Given the description of an element on the screen output the (x, y) to click on. 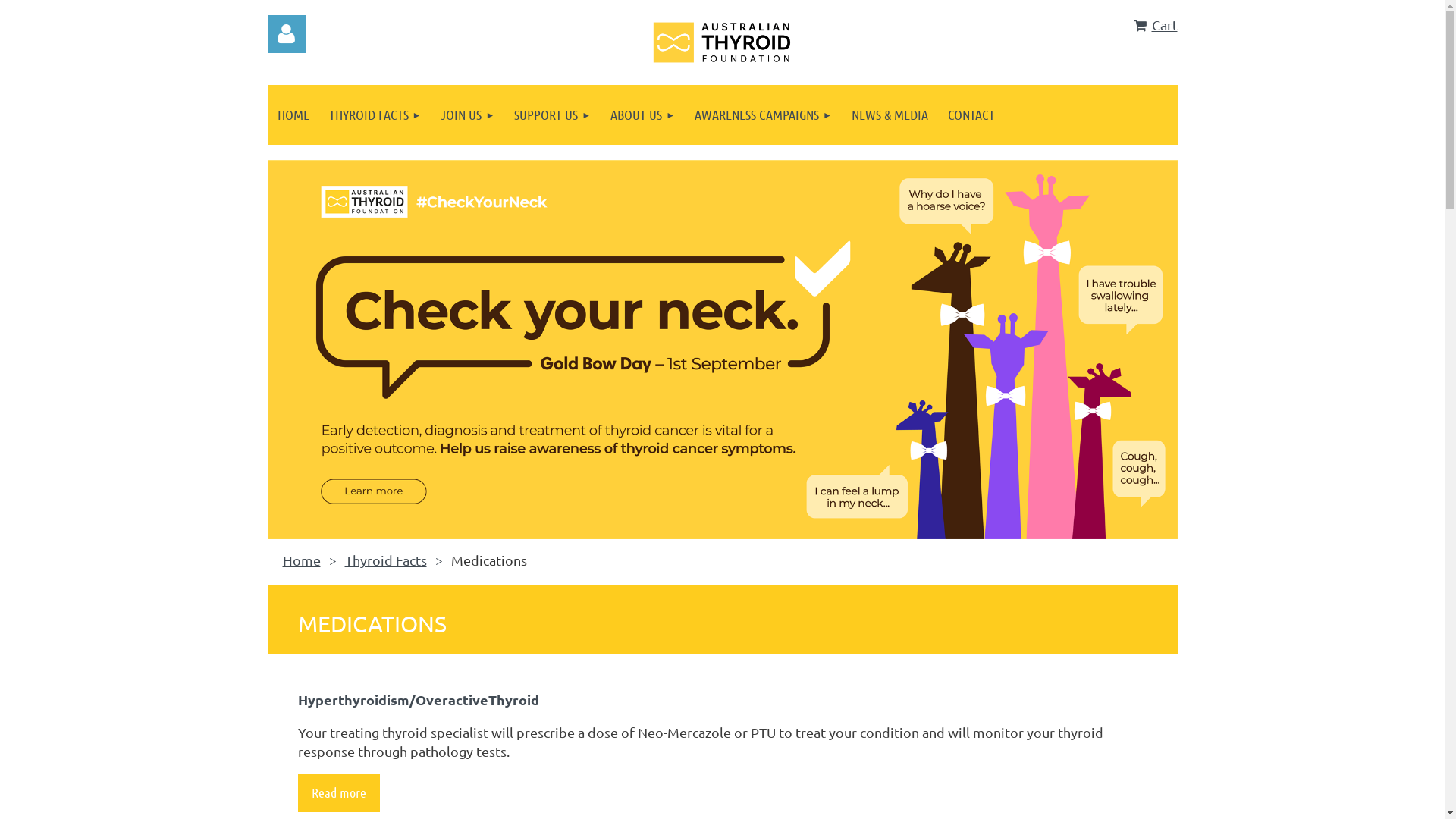
Thyroid Facts Element type: text (385, 559)
ABOUT US Element type: text (642, 114)
SUPPORT US Element type: text (552, 114)
Log in Element type: text (285, 34)
Home Element type: text (301, 559)
NEWS & MEDIA Element type: text (889, 114)
THYROID FACTS Element type: text (374, 114)
Read more Element type: text (338, 793)
Cart Element type: text (1154, 24)
HOME Element type: text (292, 114)
JOIN US Element type: text (467, 114)
AWARENESS CAMPAIGNS Element type: text (762, 114)
CONTACT Element type: text (971, 114)
